Given the description of an element on the screen output the (x, y) to click on. 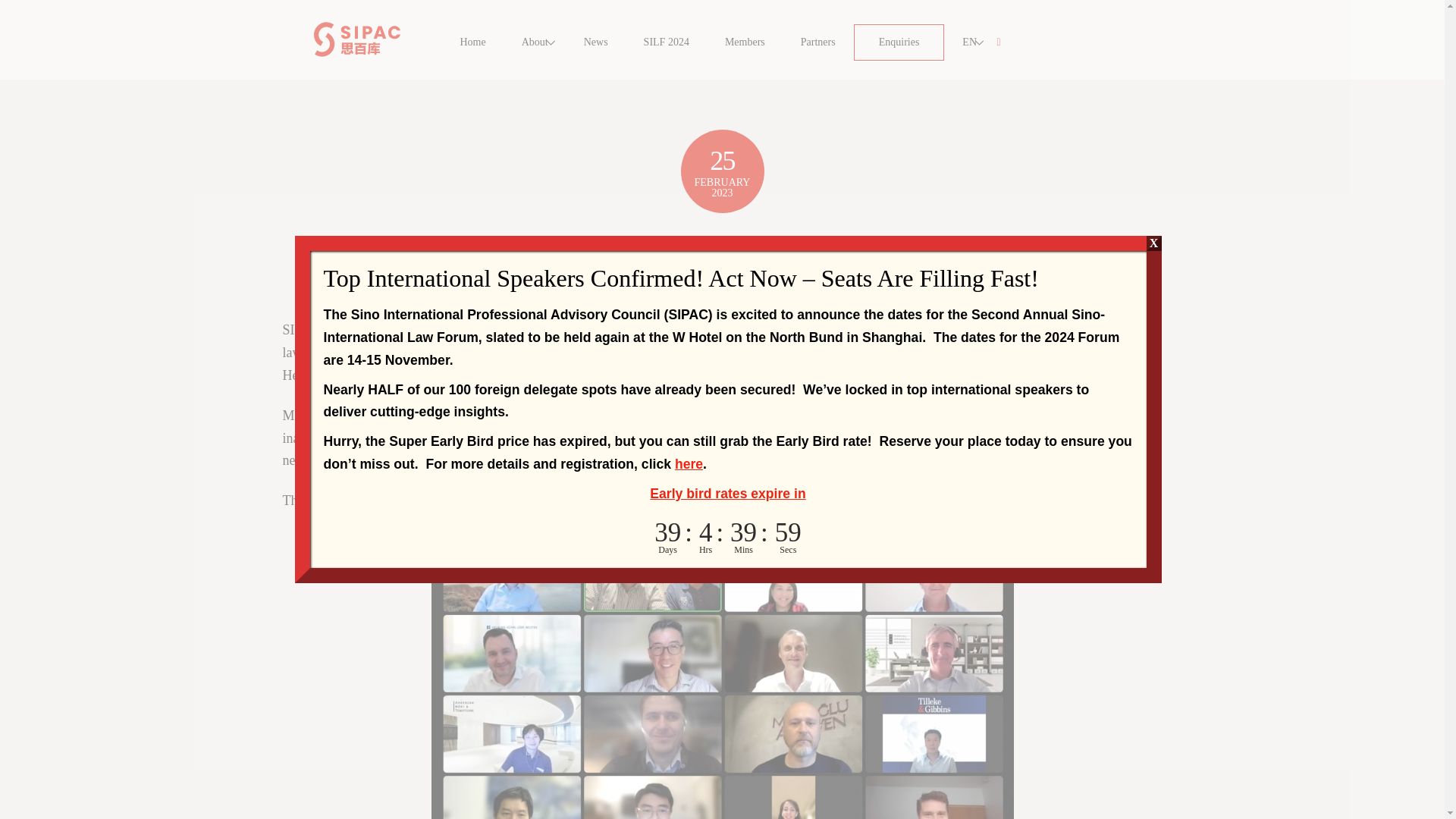
Partners (818, 42)
Early bird rates expire in (721, 42)
About (727, 493)
here (534, 42)
Home (689, 463)
SIPAC Events News (472, 42)
Enquiries (722, 296)
EN (899, 42)
News (969, 42)
Members (596, 42)
SILF 2024 (745, 42)
